Given the description of an element on the screen output the (x, y) to click on. 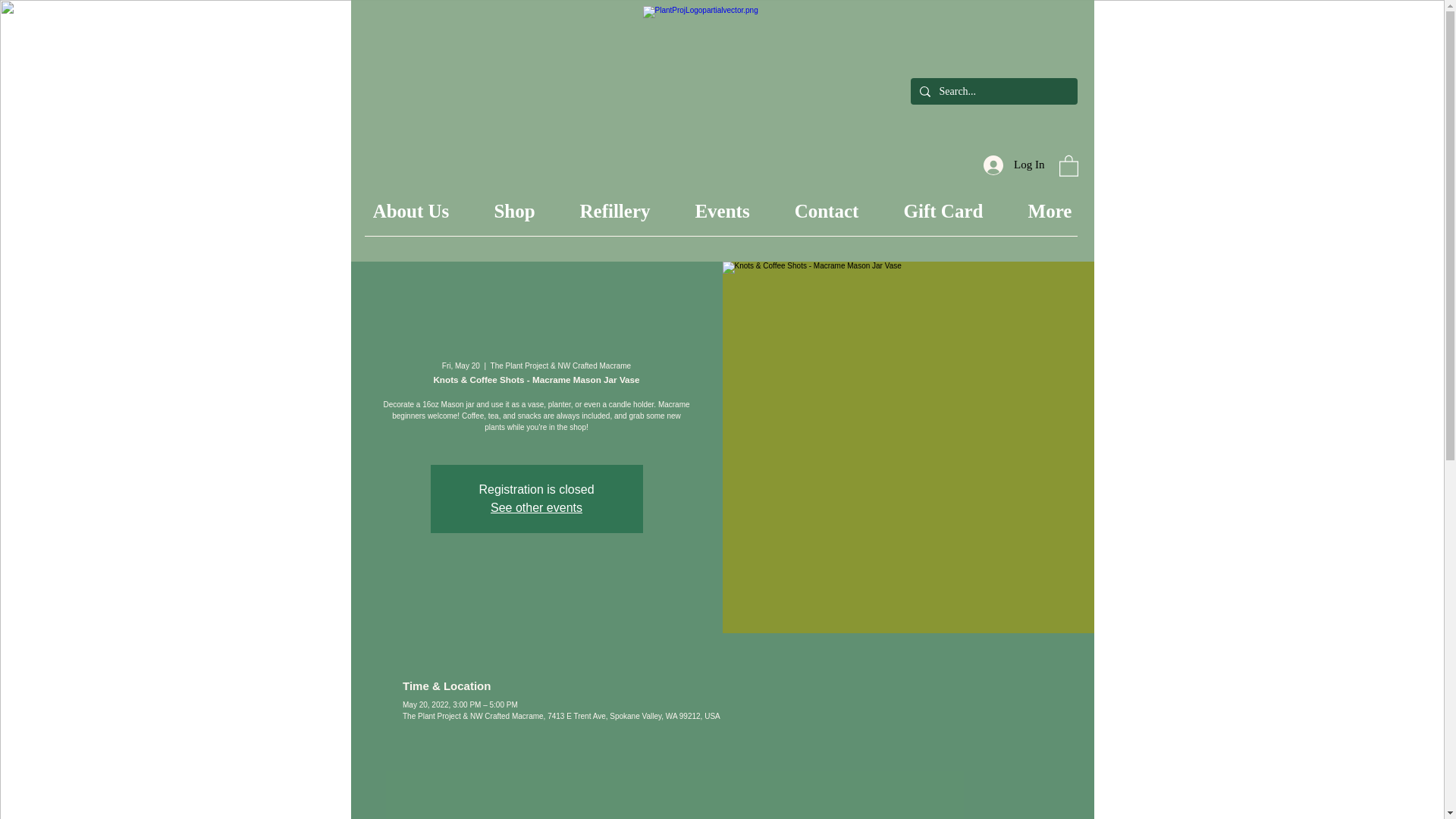
See other events (536, 507)
Refillery (613, 210)
Log In (1013, 164)
Contact (825, 210)
Gift Card (943, 210)
Events (721, 210)
About Us (410, 210)
